Given the description of an element on the screen output the (x, y) to click on. 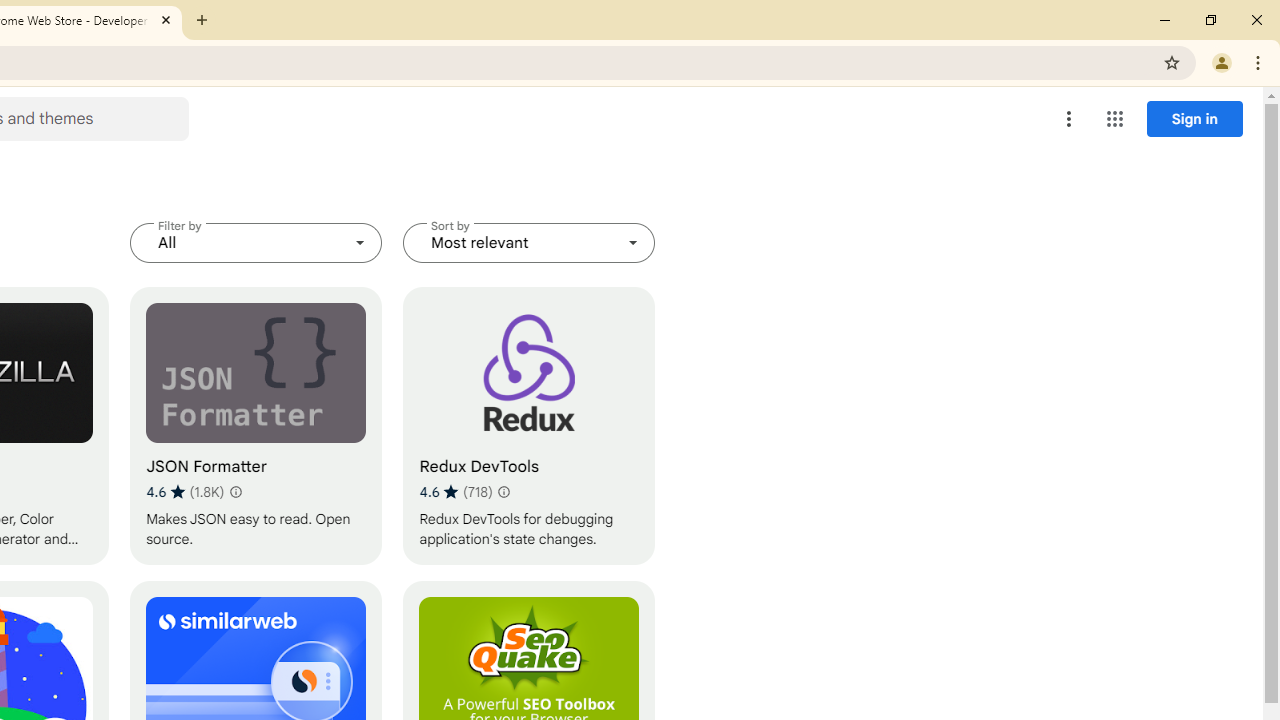
More options menu (1069, 118)
JSON Formatter (256, 426)
Learn more about results and reviews "JSON Formatter" (235, 491)
Average rating 4.6 out of 5 stars. 1.8K ratings. (185, 491)
Filter by All (256, 242)
Sort by Most relevant (529, 242)
Redux DevTools (529, 426)
